Given the description of an element on the screen output the (x, y) to click on. 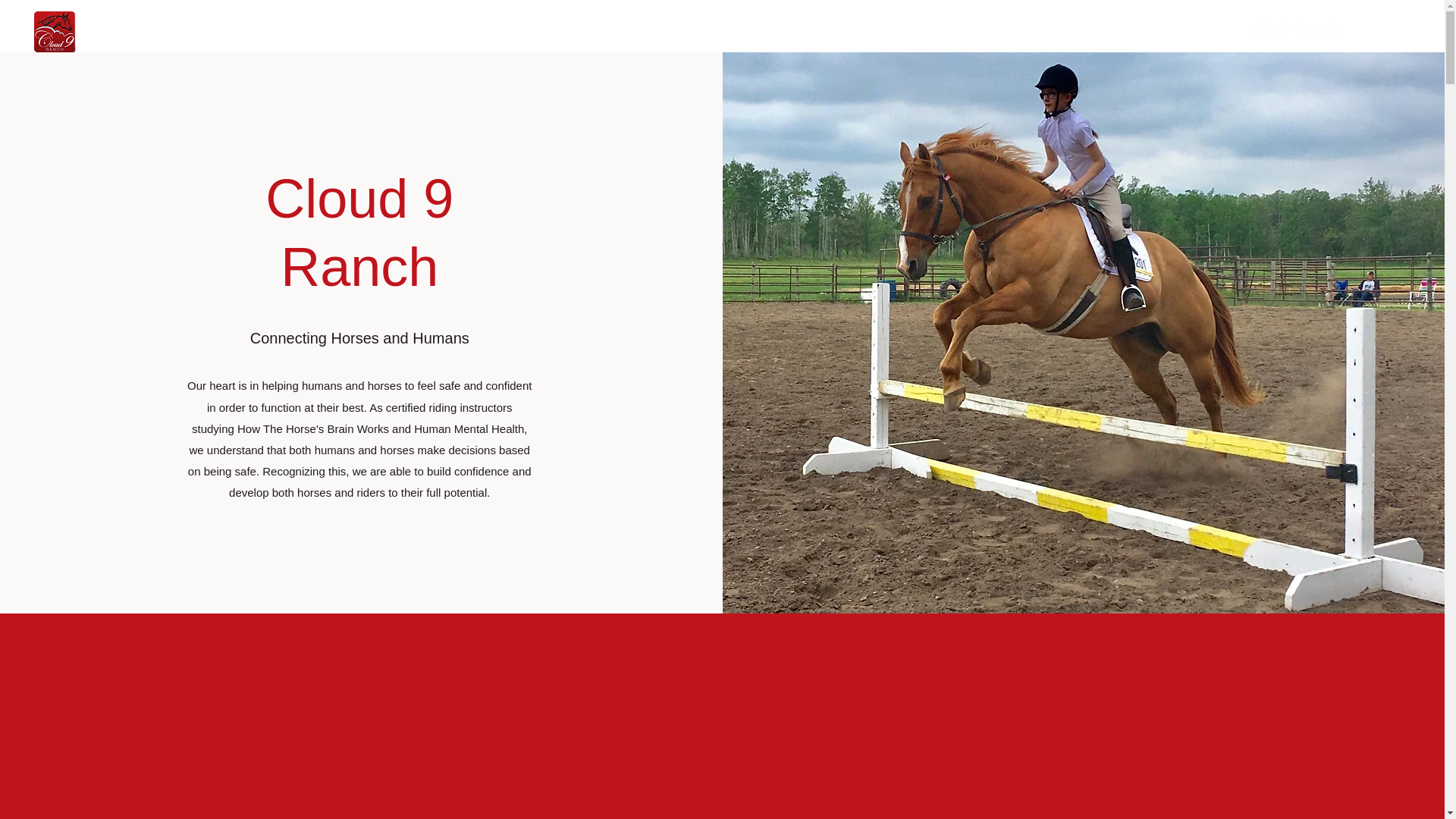
day camps (406, 31)
lessons (241, 31)
equine therapy (319, 31)
the team (179, 31)
home (121, 31)
External YouTube (721, 761)
